Given the description of an element on the screen output the (x, y) to click on. 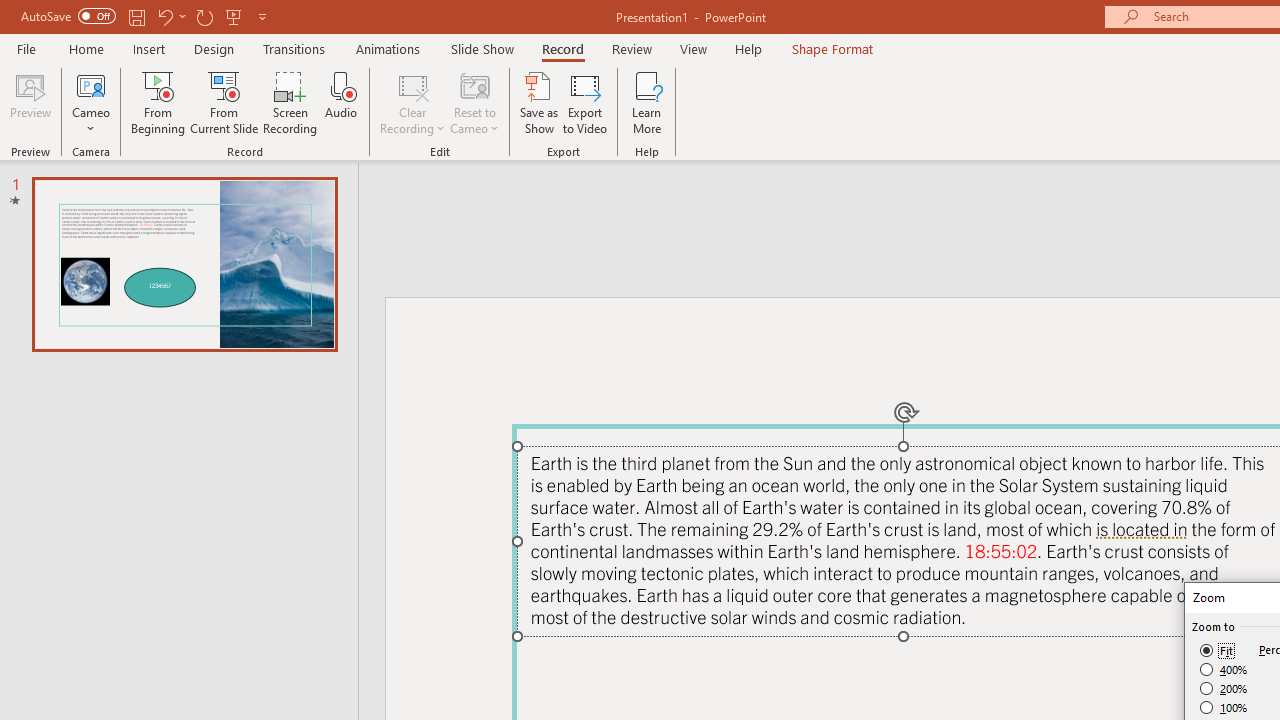
100% (1224, 707)
